Given the description of an element on the screen output the (x, y) to click on. 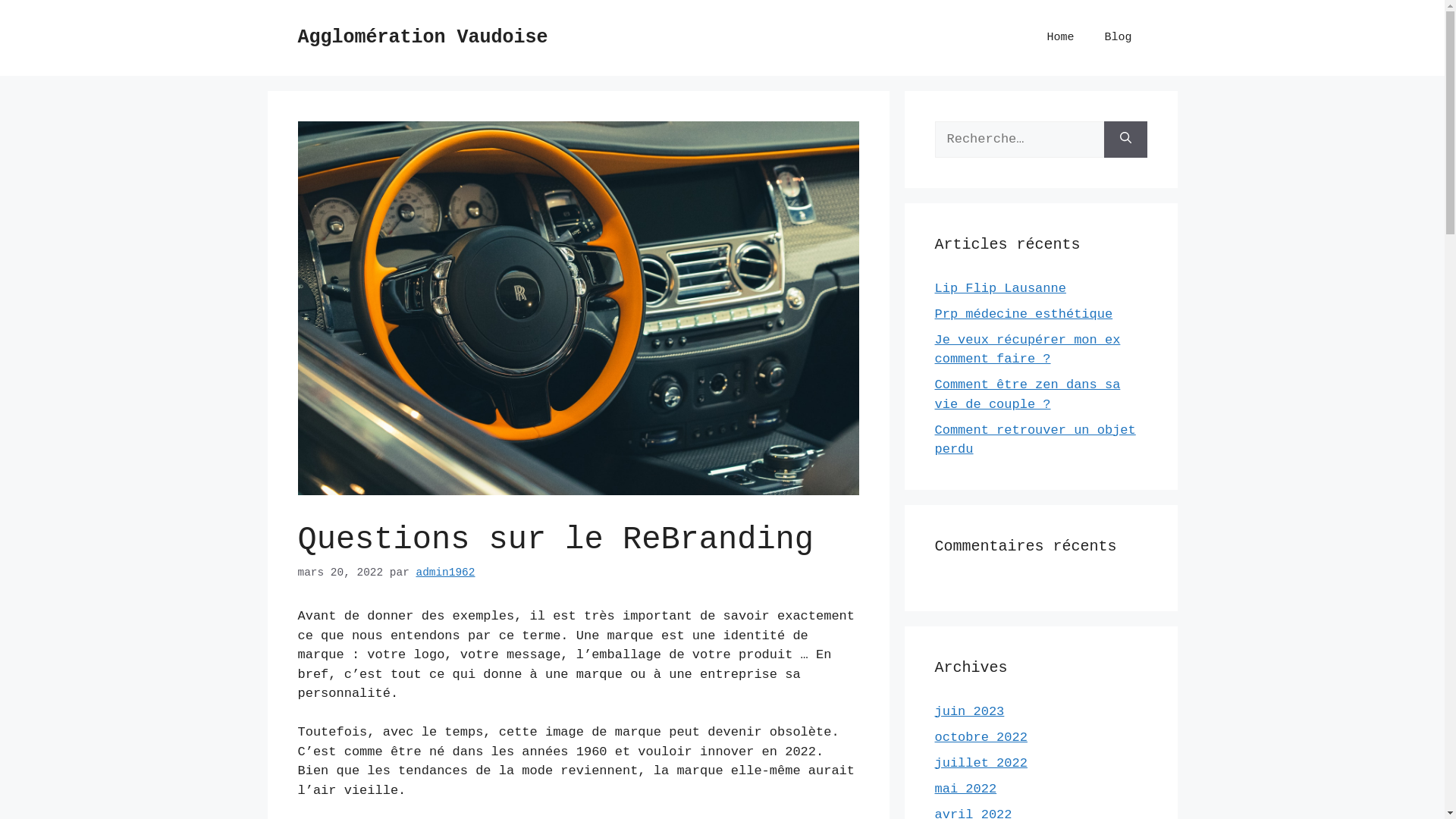
Home Element type: text (1059, 37)
Lip Flip Lausanne Element type: text (999, 287)
juin 2023 Element type: text (969, 710)
octobre 2022 Element type: text (980, 736)
Blog Element type: text (1117, 37)
Comment retrouver un objet perdu Element type: text (1034, 440)
admin1962 Element type: text (444, 572)
juillet 2022 Element type: text (980, 762)
mai 2022 Element type: text (965, 788)
